Given the description of an element on the screen output the (x, y) to click on. 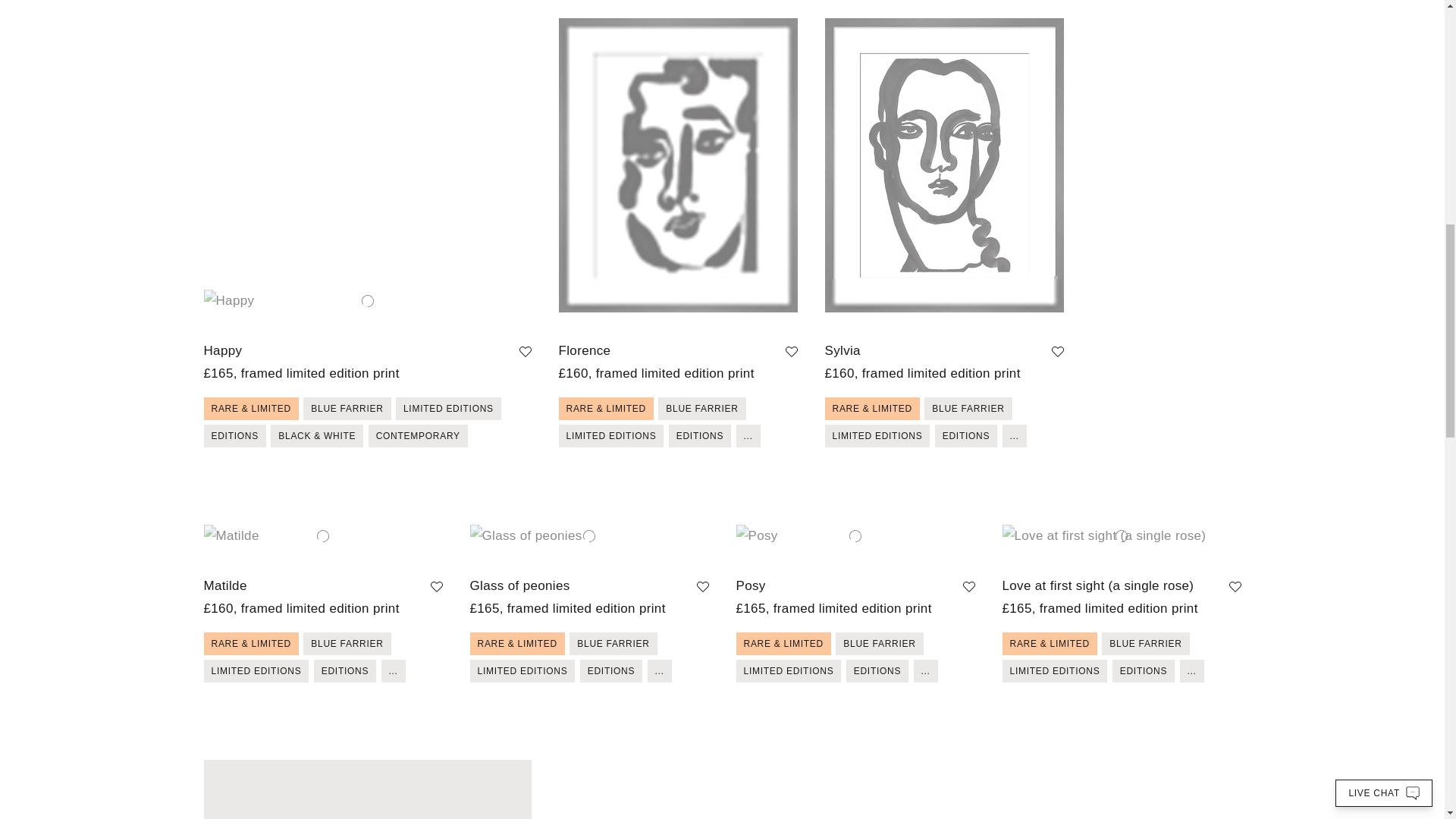
Glass of peonies (520, 585)
Matilde (224, 585)
Sylvia (842, 350)
Happy (222, 350)
Florence (583, 350)
